Given the description of an element on the screen output the (x, y) to click on. 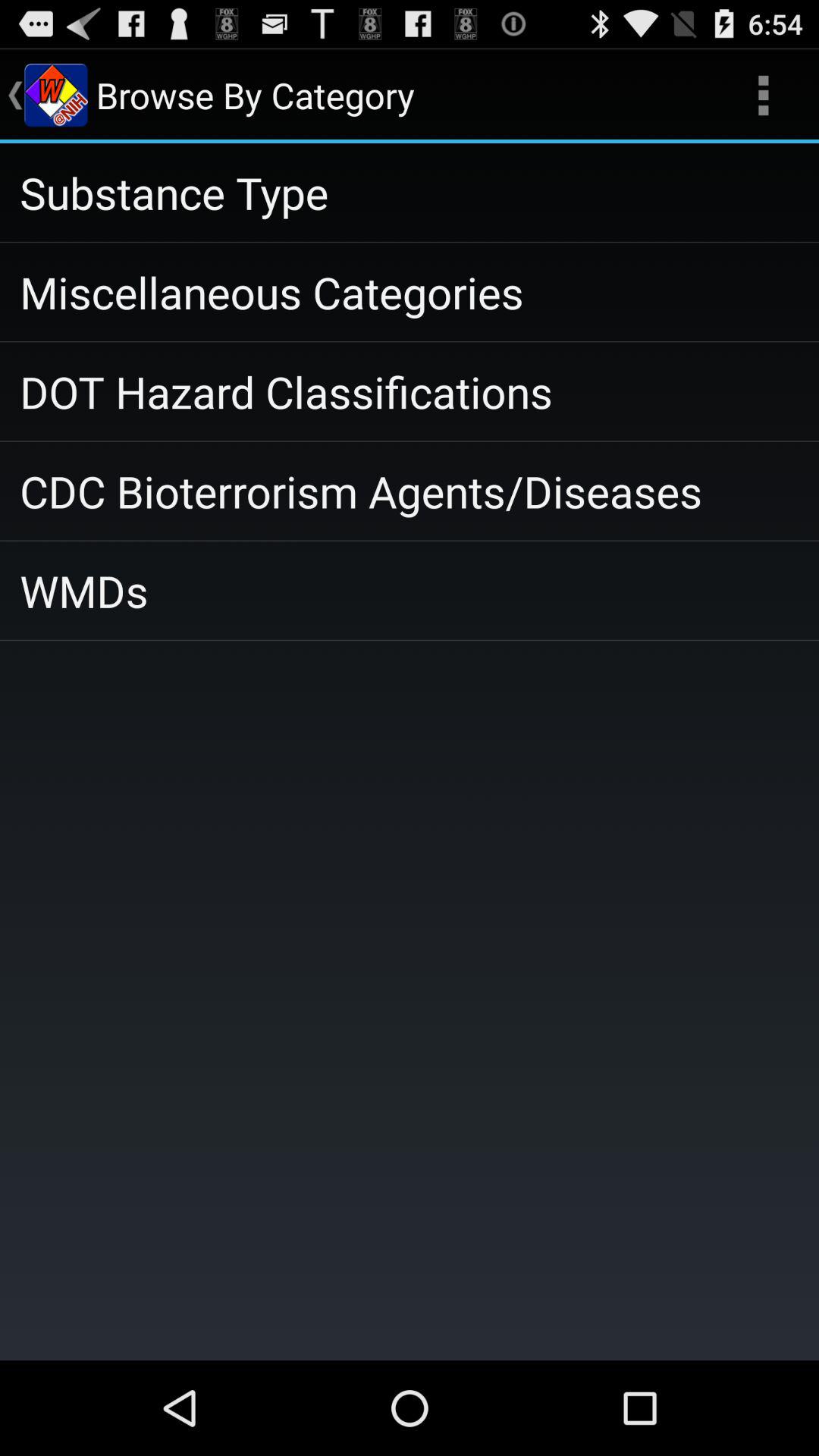
turn on the miscellaneous categories item (409, 291)
